Given the description of an element on the screen output the (x, y) to click on. 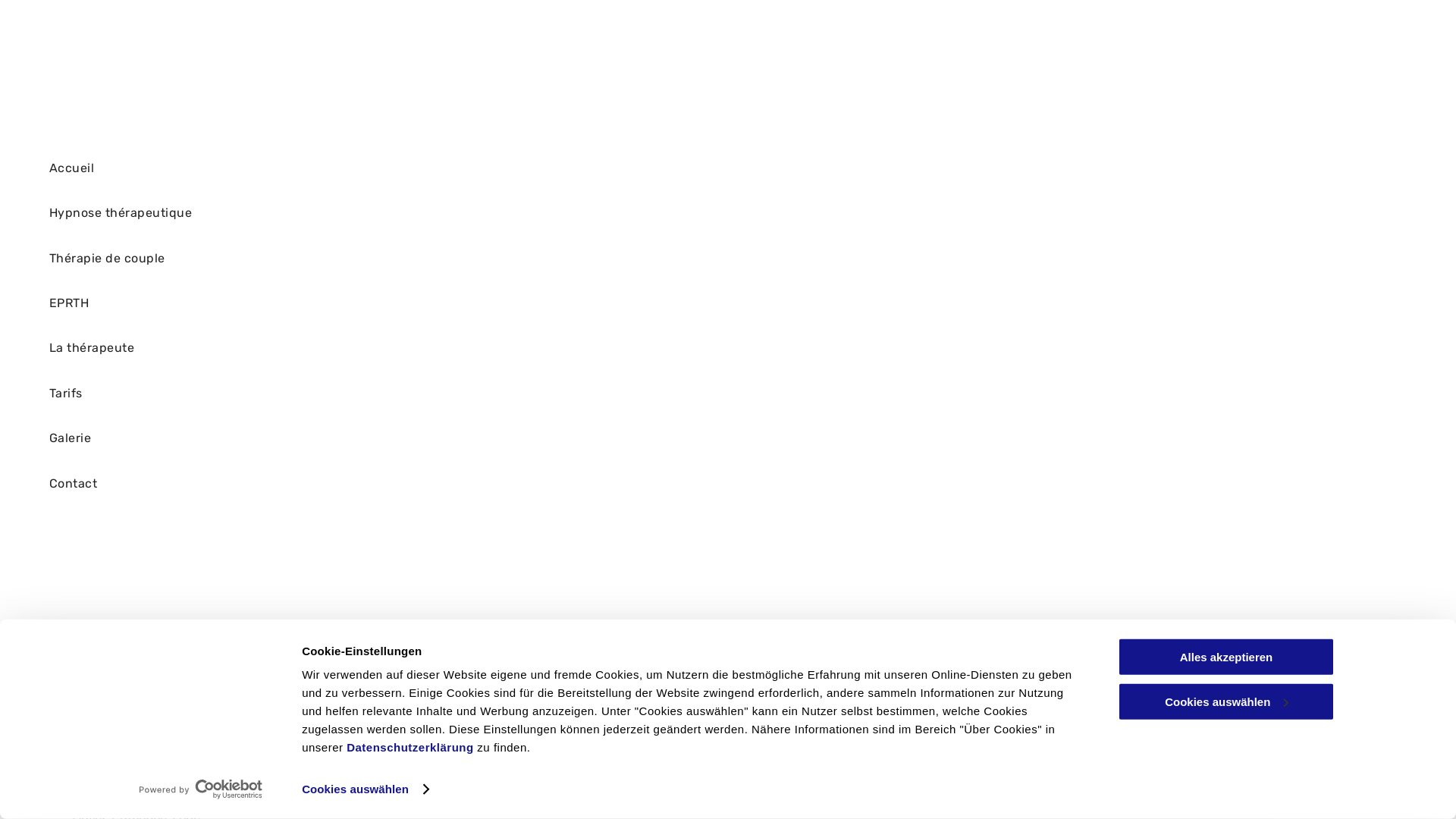
Alles akzeptieren Element type: text (1225, 656)
Contact Element type: text (303, 482)
EPRTH Element type: text (303, 303)
Galerie Element type: text (303, 438)
Accueil Element type: text (303, 168)
Tarifs Element type: text (303, 393)
Appelez-moi Element type: text (140, 776)
